Given the description of an element on the screen output the (x, y) to click on. 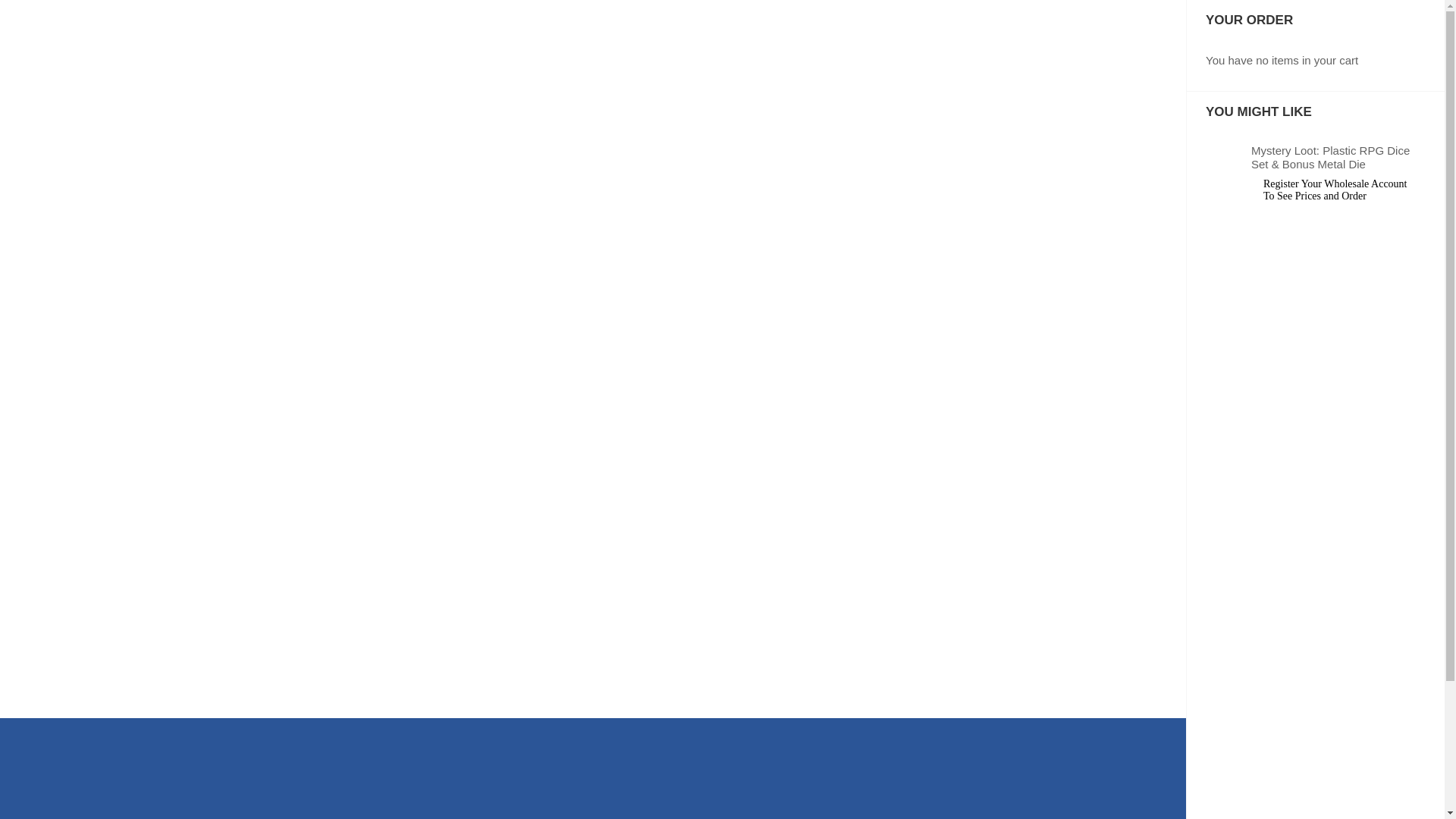
Register Your Wholesale Account To See Prices and Order (1337, 189)
